Given the description of an element on the screen output the (x, y) to click on. 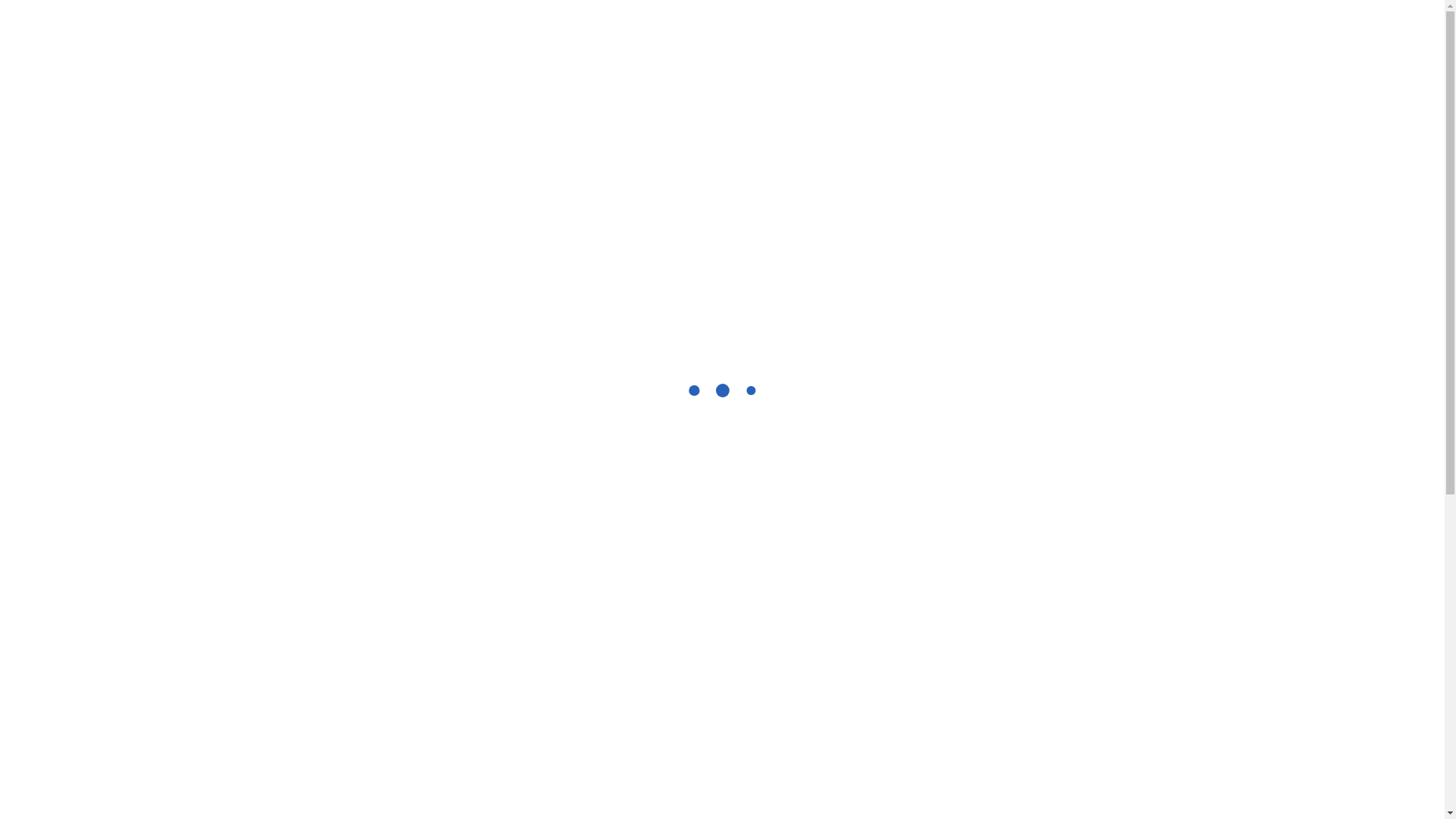
News Element type: text (984, 55)
Resources Element type: text (830, 55)
About Element type: text (684, 55)
REGISTER NOW Element type: text (354, 717)
READ THE BLOG POST Element type: text (657, 561)
Search Element type: text (1126, 58)
Contact Element type: text (1050, 55)
READ THE BLOG POST Element type: text (945, 512)
Training Element type: text (751, 55)
Advocacy Element type: text (914, 55)
